Given the description of an element on the screen output the (x, y) to click on. 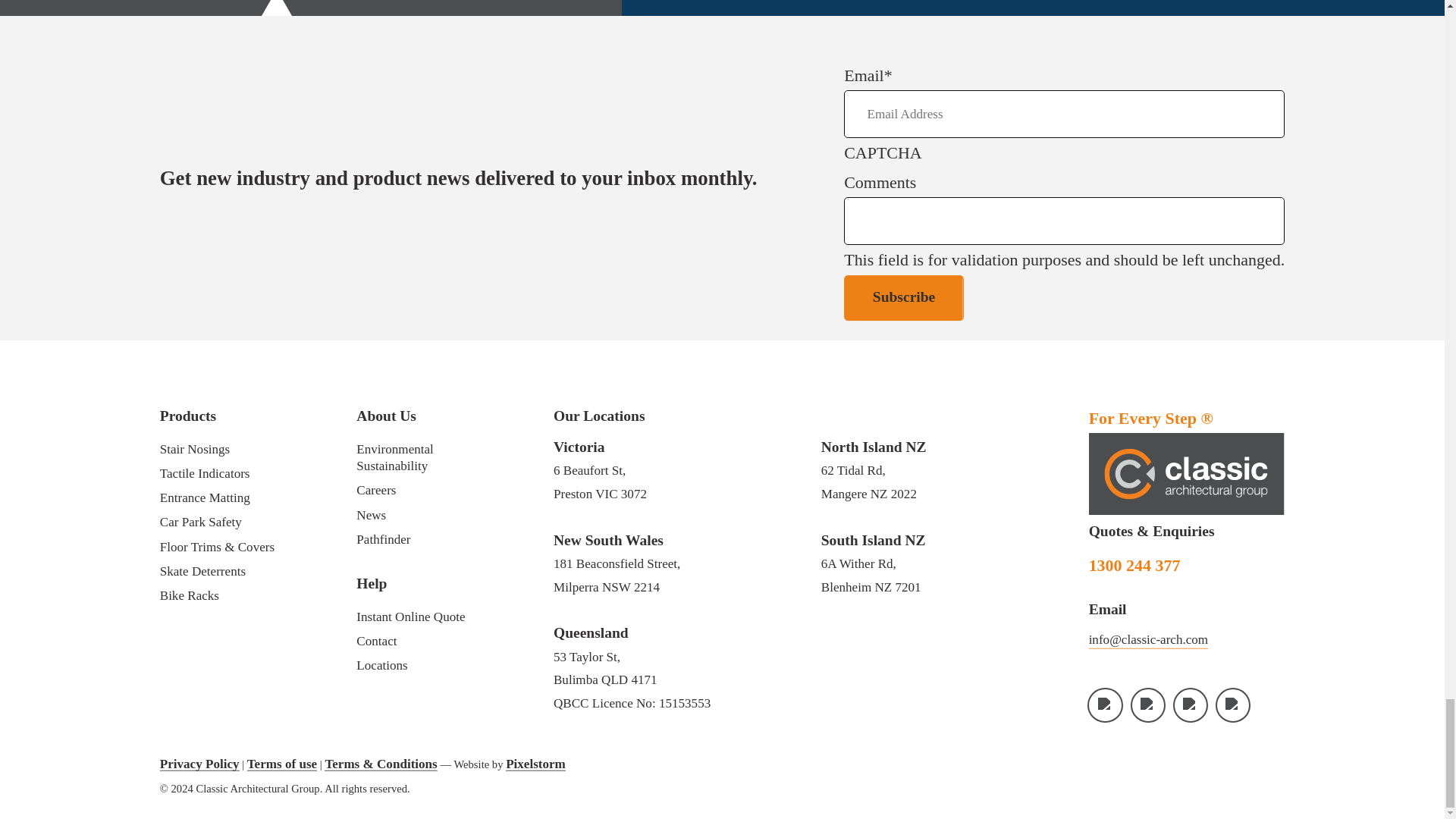
Subscribe (903, 298)
